Given the description of an element on the screen output the (x, y) to click on. 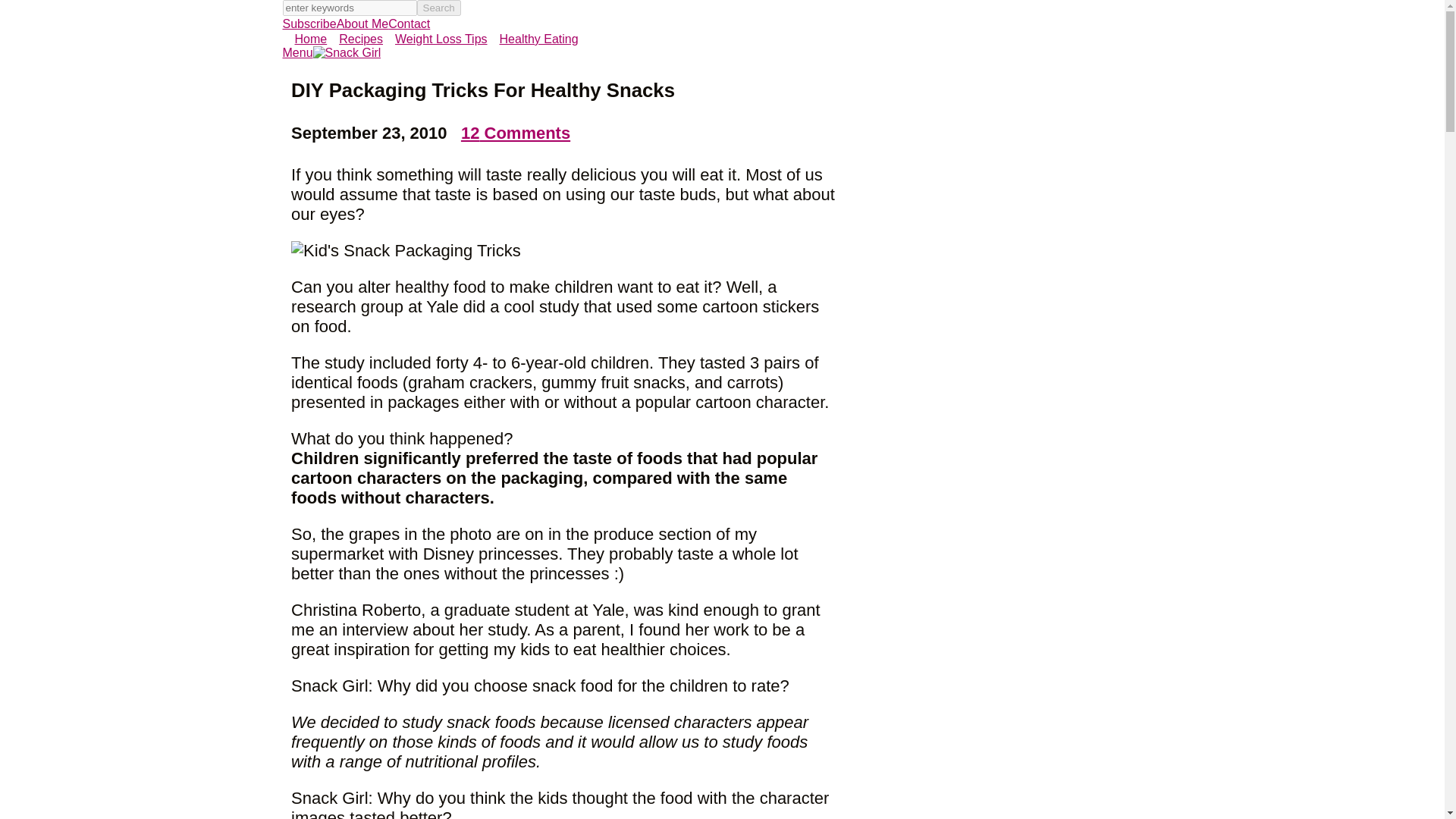
Recipes (354, 38)
Menu (297, 51)
Contact (408, 23)
Healthy Eating (532, 38)
Search (438, 7)
About Me (362, 23)
12 Comments (515, 132)
Subscribe (309, 23)
Weight Loss Tips (434, 38)
Search (438, 7)
